Given the description of an element on the screen output the (x, y) to click on. 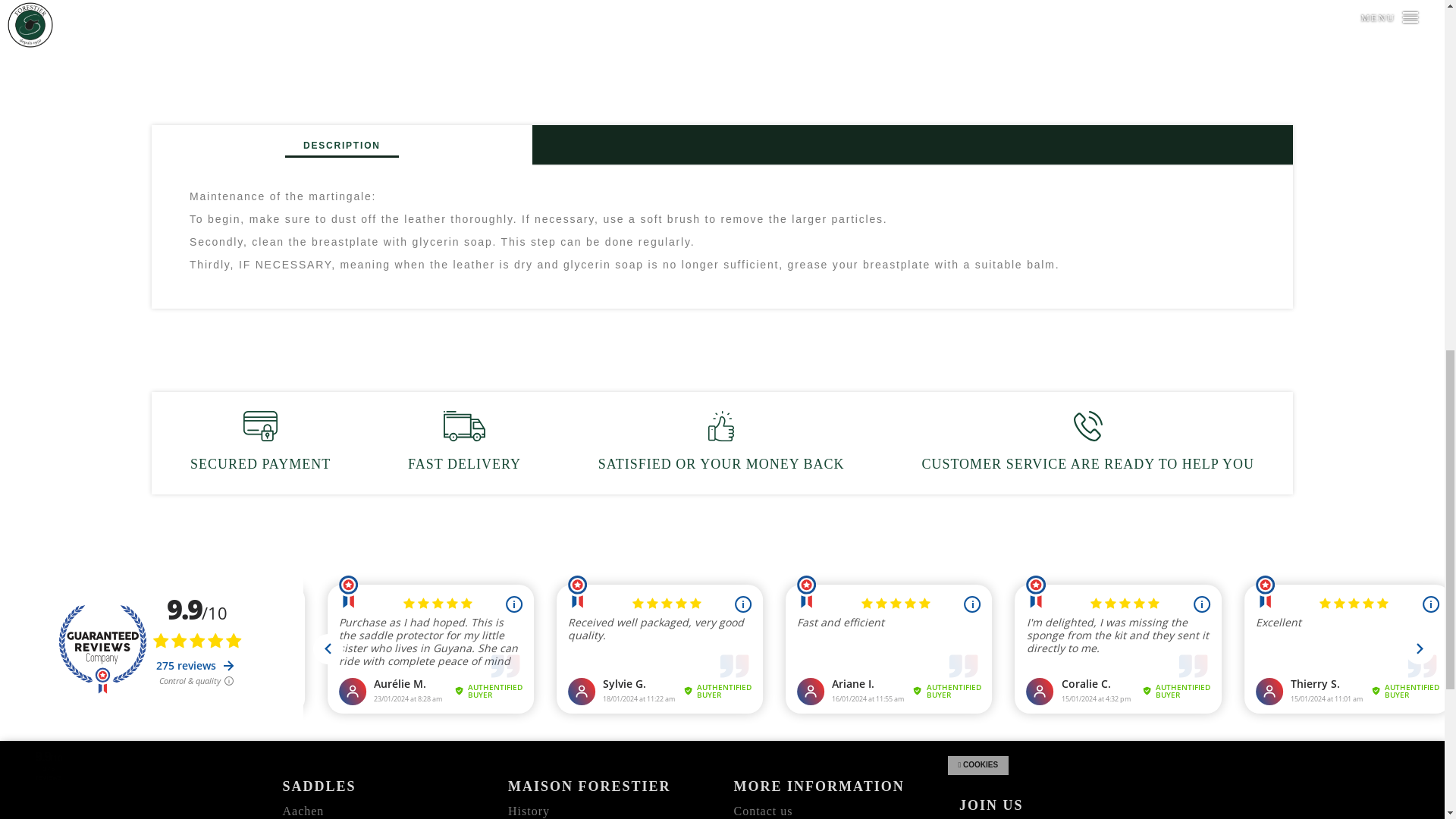
DESCRIPTION (341, 144)
Aachen (302, 810)
